Given the description of an element on the screen output the (x, y) to click on. 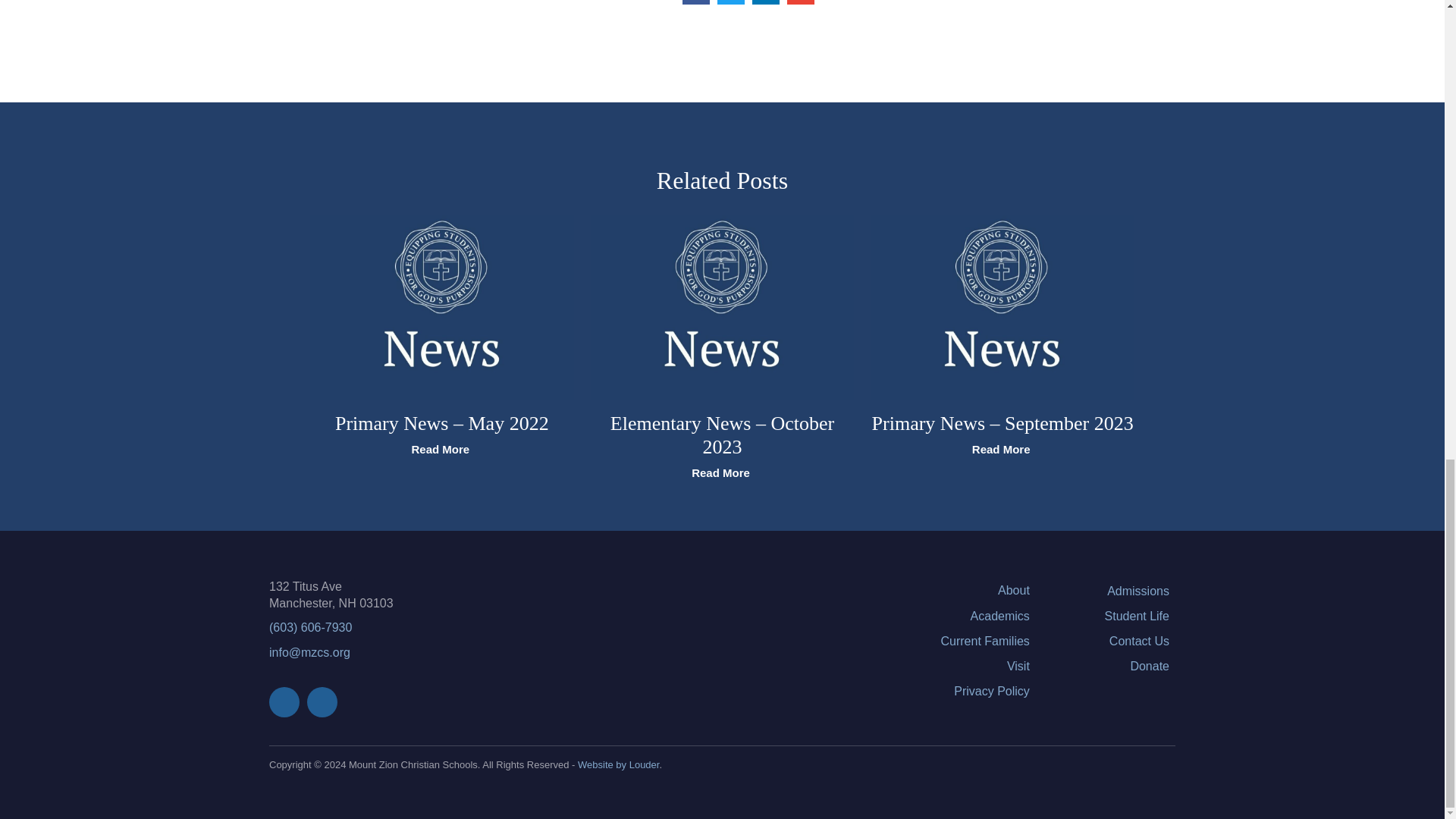
News (722, 307)
News (441, 307)
News (1002, 307)
